Given the description of an element on the screen output the (x, y) to click on. 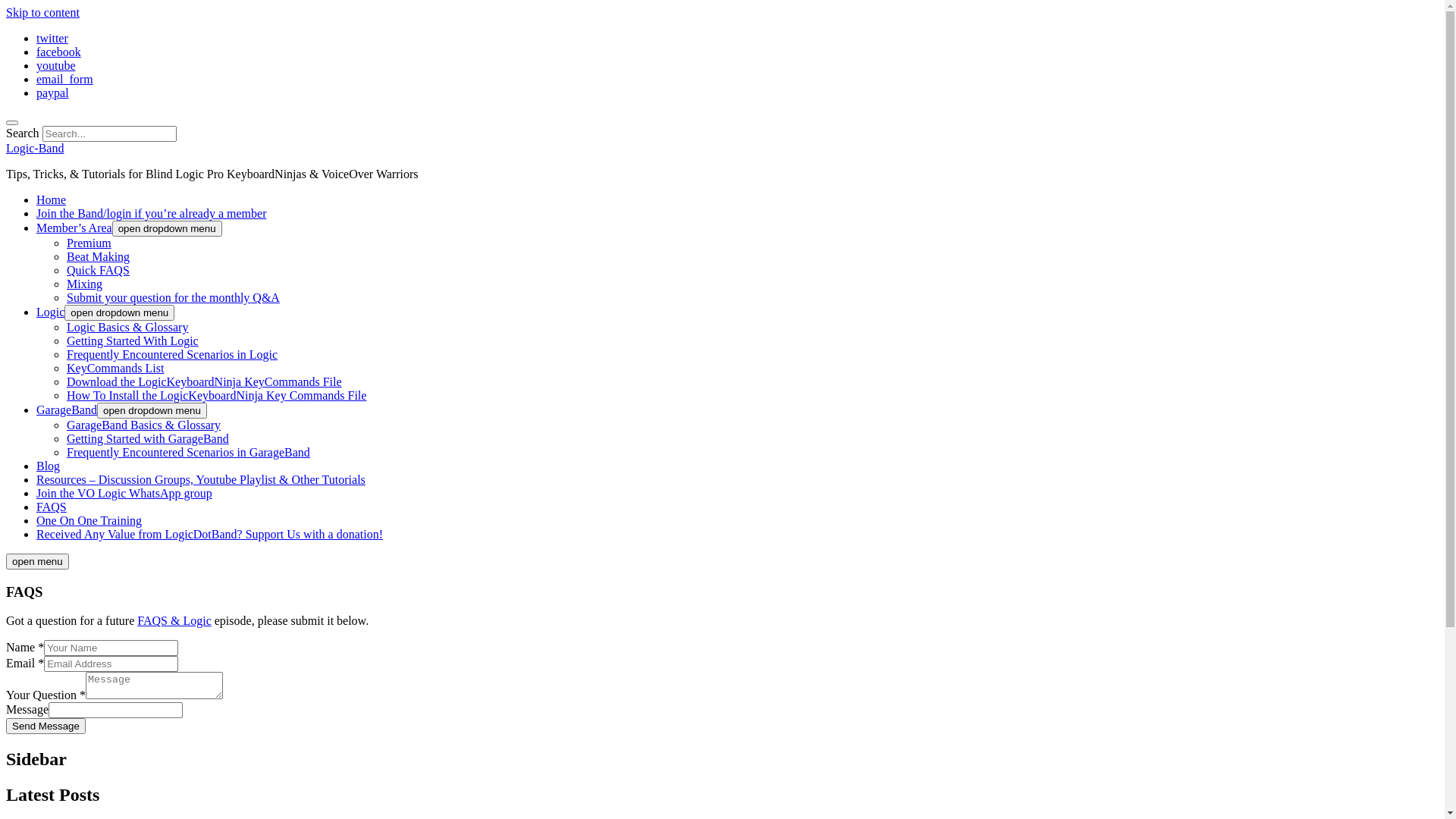
open menu Element type: text (37, 561)
Premium Element type: text (88, 242)
youtube Element type: text (55, 65)
FAQS & Logic Element type: text (173, 620)
GarageBand Element type: text (66, 409)
Getting Started With Logic Element type: text (132, 340)
open dropdown menu Element type: text (167, 228)
One On One Training Element type: text (88, 520)
Send Message Element type: text (45, 726)
Frequently Encountered Scenarios in GarageBand Element type: text (188, 451)
email_form Element type: text (64, 78)
Beat Making Element type: text (97, 256)
twitter Element type: text (52, 37)
open dropdown menu Element type: text (152, 410)
Logic Basics & Glossary Element type: text (127, 326)
Quick FAQS Element type: text (97, 269)
Join the VO Logic WhatsApp group Element type: text (124, 492)
Logic-Band Element type: text (34, 147)
Blog Element type: text (47, 465)
facebook Element type: text (58, 51)
open dropdown menu Element type: text (119, 312)
Skip to content Element type: text (42, 12)
GarageBand Basics & Glossary Element type: text (143, 424)
KeyCommands List Element type: text (114, 367)
Frequently Encountered Scenarios in Logic Element type: text (171, 354)
Home Element type: text (50, 199)
Submit your question for the monthly Q&A Element type: text (172, 297)
FAQS Element type: text (51, 506)
paypal Element type: text (52, 92)
Search for: Element type: hover (109, 133)
Download the LogicKeyboardNinja KeyCommands File Element type: text (204, 381)
Mixing Element type: text (84, 283)
Getting Started with GarageBand Element type: text (147, 438)
How To Install the LogicKeyboardNinja Key Commands File Element type: text (216, 395)
Logic Element type: text (50, 311)
